Given the description of an element on the screen output the (x, y) to click on. 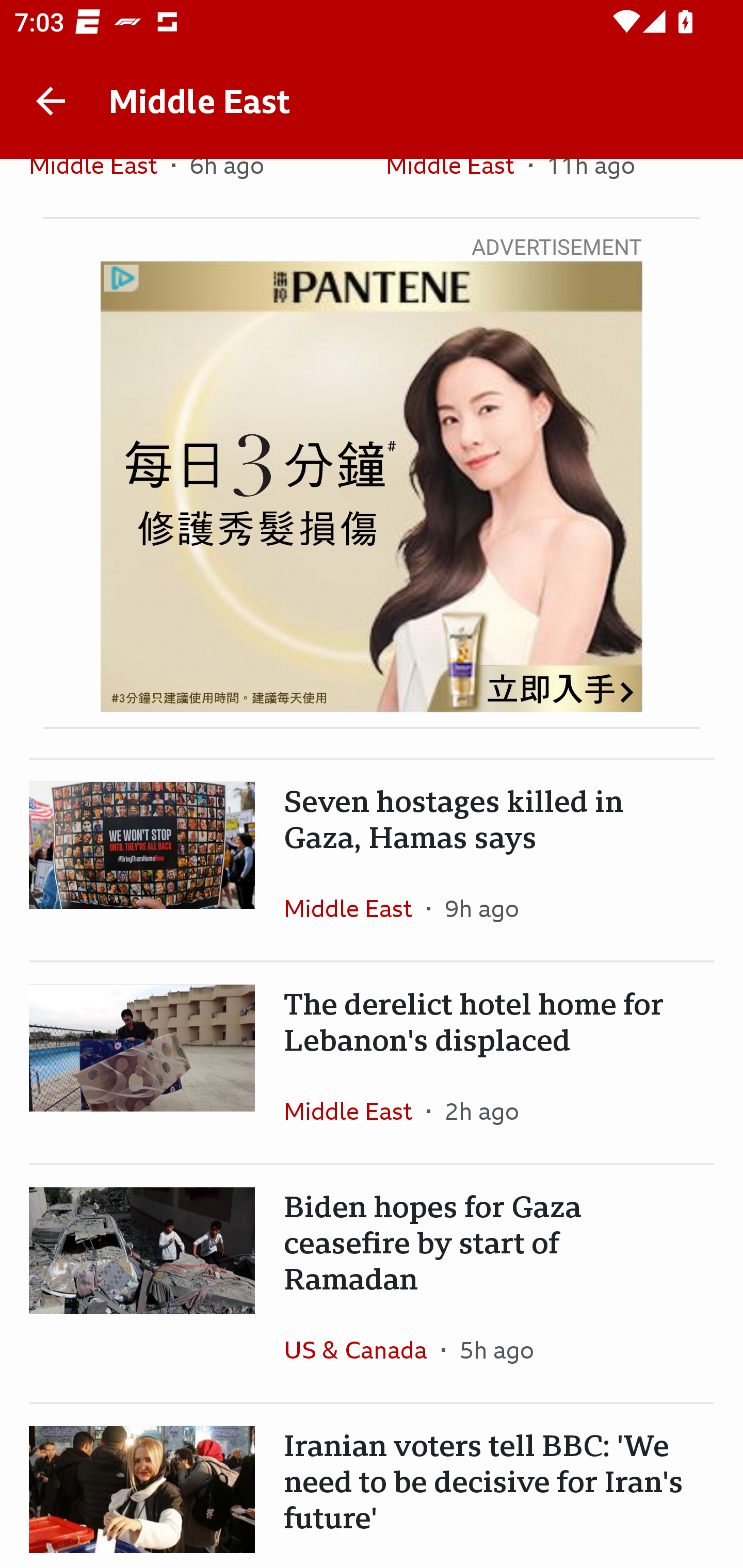
Back (50, 101)
Middle East In the section Middle East (99, 187)
Middle East In the section Middle East (457, 187)
index javascript:window.open(window (371, 486)
Middle East In the section Middle East (354, 907)
Middle East In the section Middle East (354, 1110)
US & Canada In the section US & Canada (362, 1349)
